Given the description of an element on the screen output the (x, y) to click on. 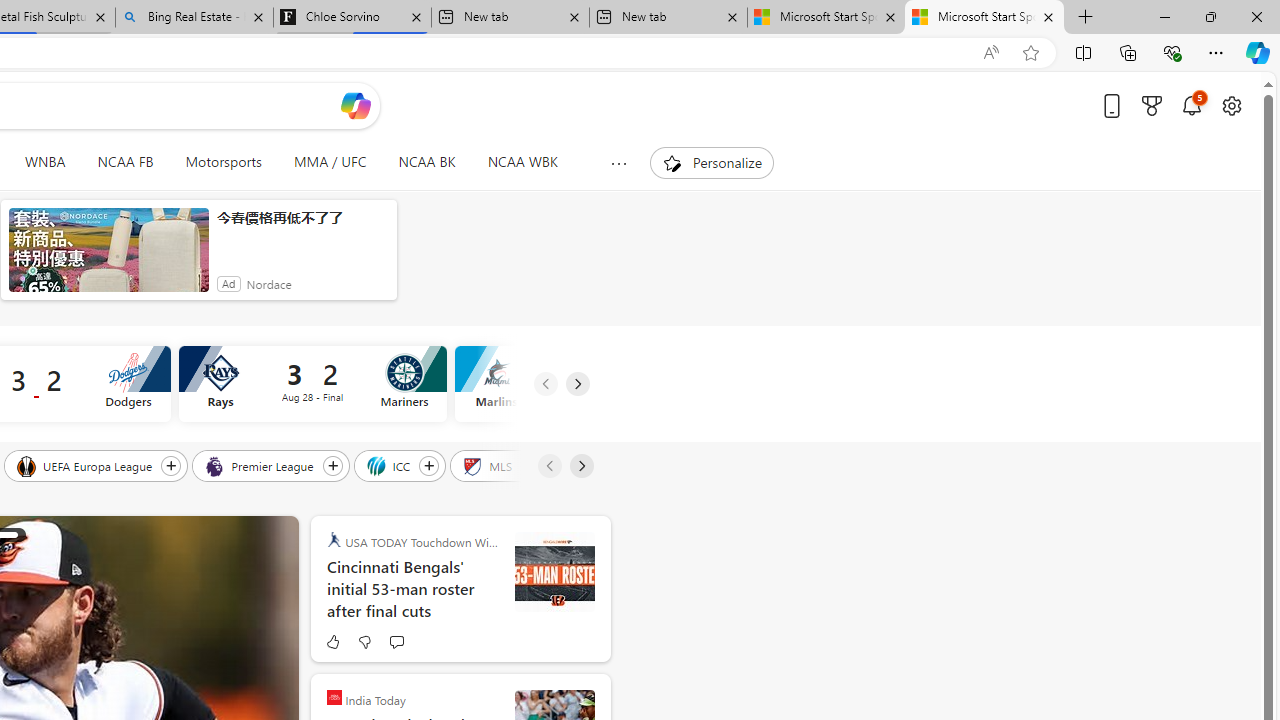
Like (332, 641)
Open Copilot (356, 105)
Cincinnati Bengals' initial 53-man roster after final cuts (412, 588)
Open settings (1231, 105)
MMA / UFC (330, 162)
NCAA FB (125, 162)
WNBA (45, 162)
MLS (488, 465)
Microsoft Start Sports (984, 17)
NCAA BK (426, 162)
